Given the description of an element on the screen output the (x, y) to click on. 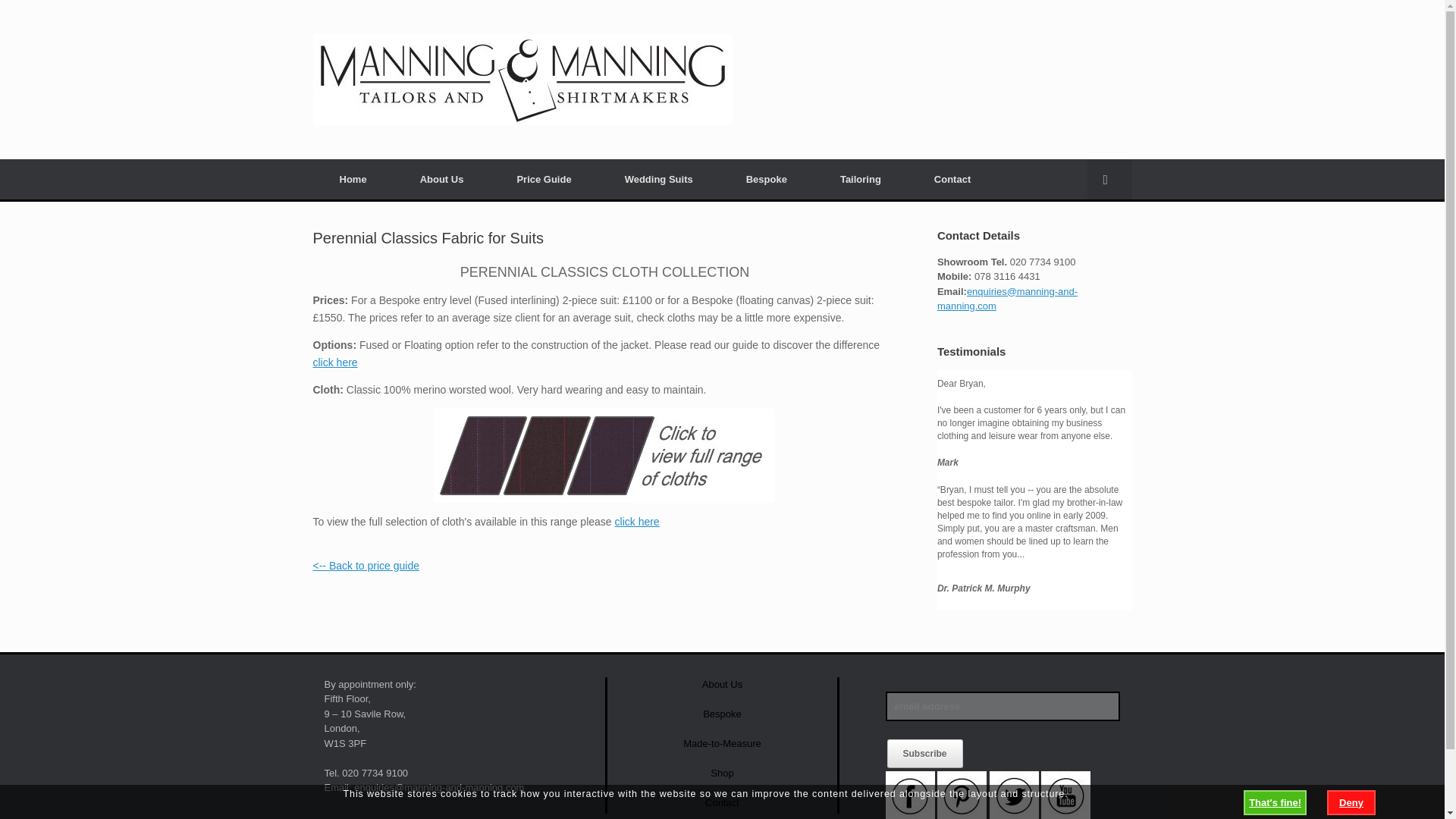
About Us (721, 684)
Bespoke (722, 713)
Made-to-Measure (721, 743)
About Us (441, 178)
Shop (721, 772)
Deny (1350, 802)
That's fine! (1274, 802)
Wedding Suits (658, 178)
Perennial Classics Collection (636, 521)
Subscribe (924, 753)
